Given the description of an element on the screen output the (x, y) to click on. 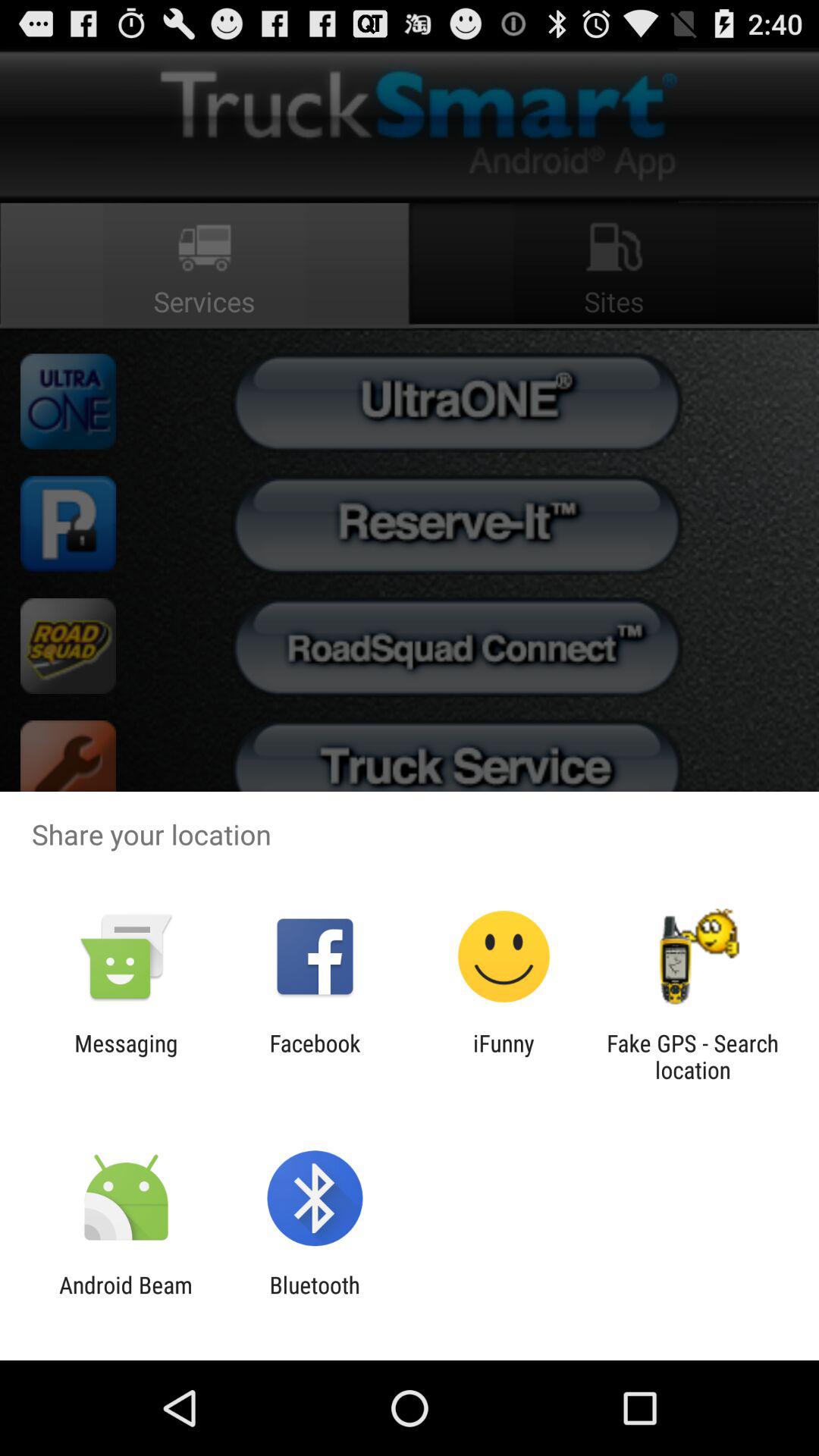
press fake gps search (692, 1056)
